Given the description of an element on the screen output the (x, y) to click on. 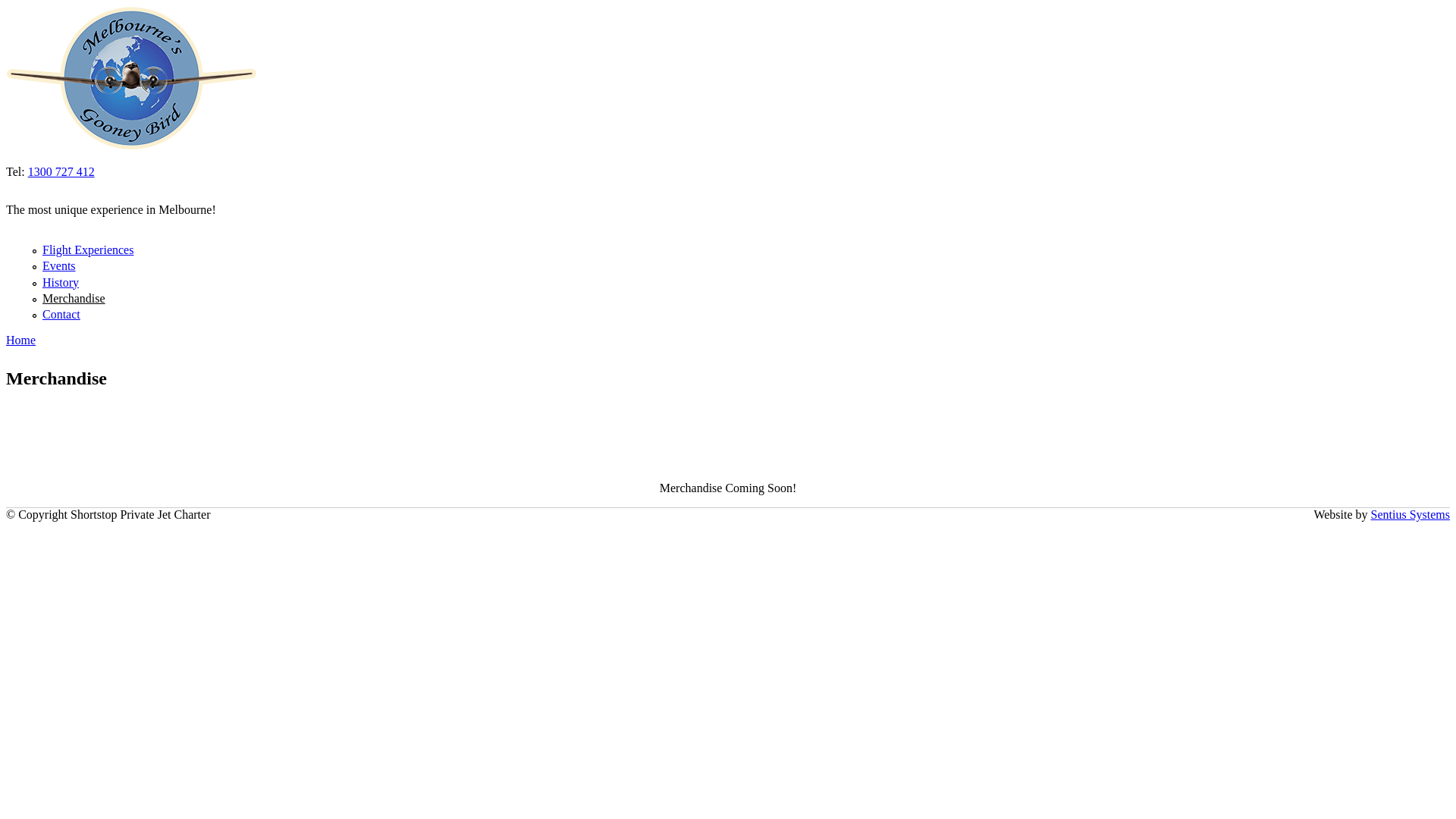
History Element type: text (60, 282)
Home Element type: text (20, 339)
Events Element type: text (58, 265)
1300 727 412 Element type: text (61, 171)
Sentius Systems Element type: text (1410, 514)
Contact Element type: text (61, 313)
Merchandise Element type: text (73, 297)
Flight Experiences Element type: text (87, 249)
Skip to main content Element type: text (56, 6)
